Given the description of an element on the screen output the (x, y) to click on. 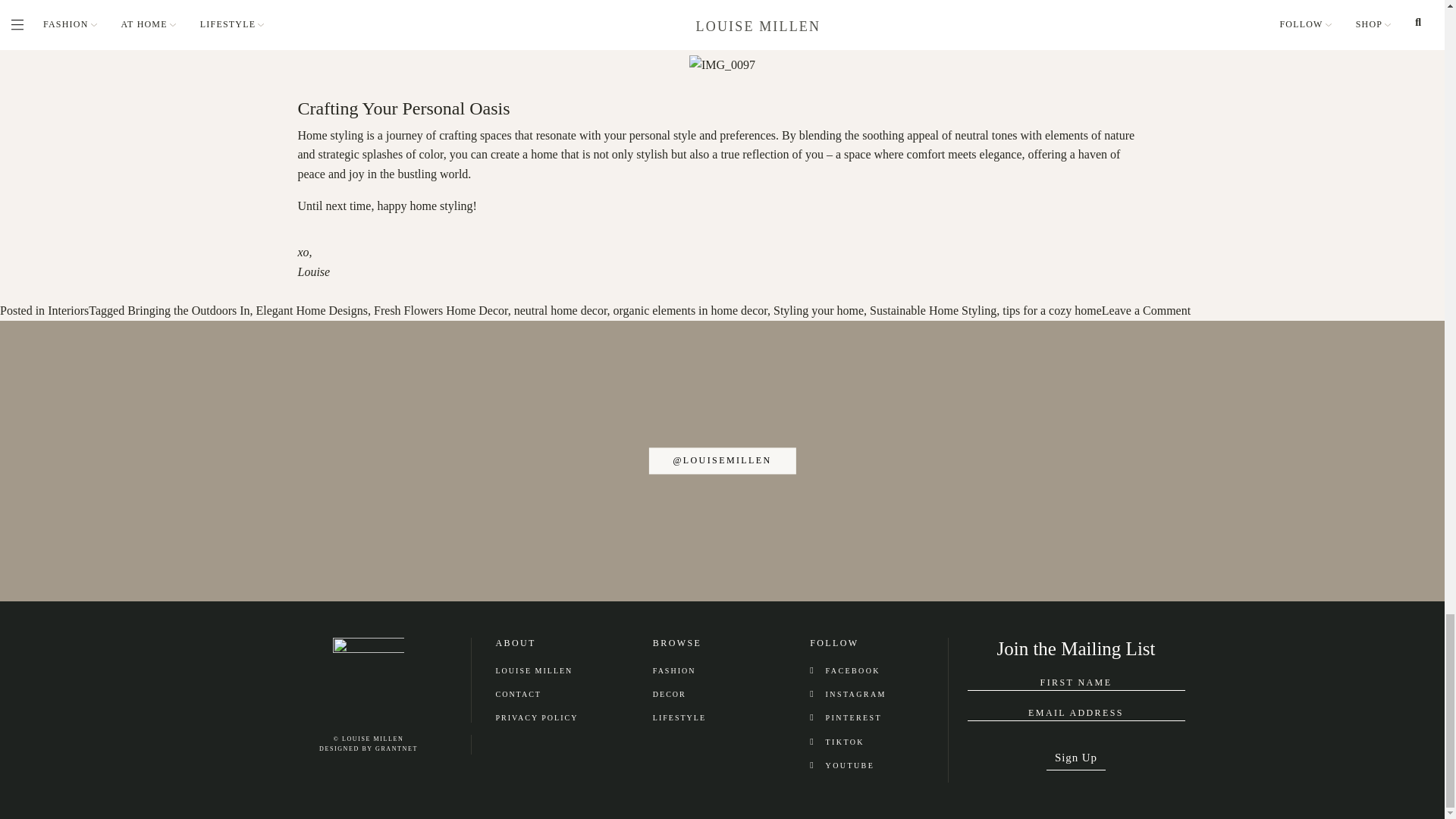
Sign Up (1075, 753)
